Given the description of an element on the screen output the (x, y) to click on. 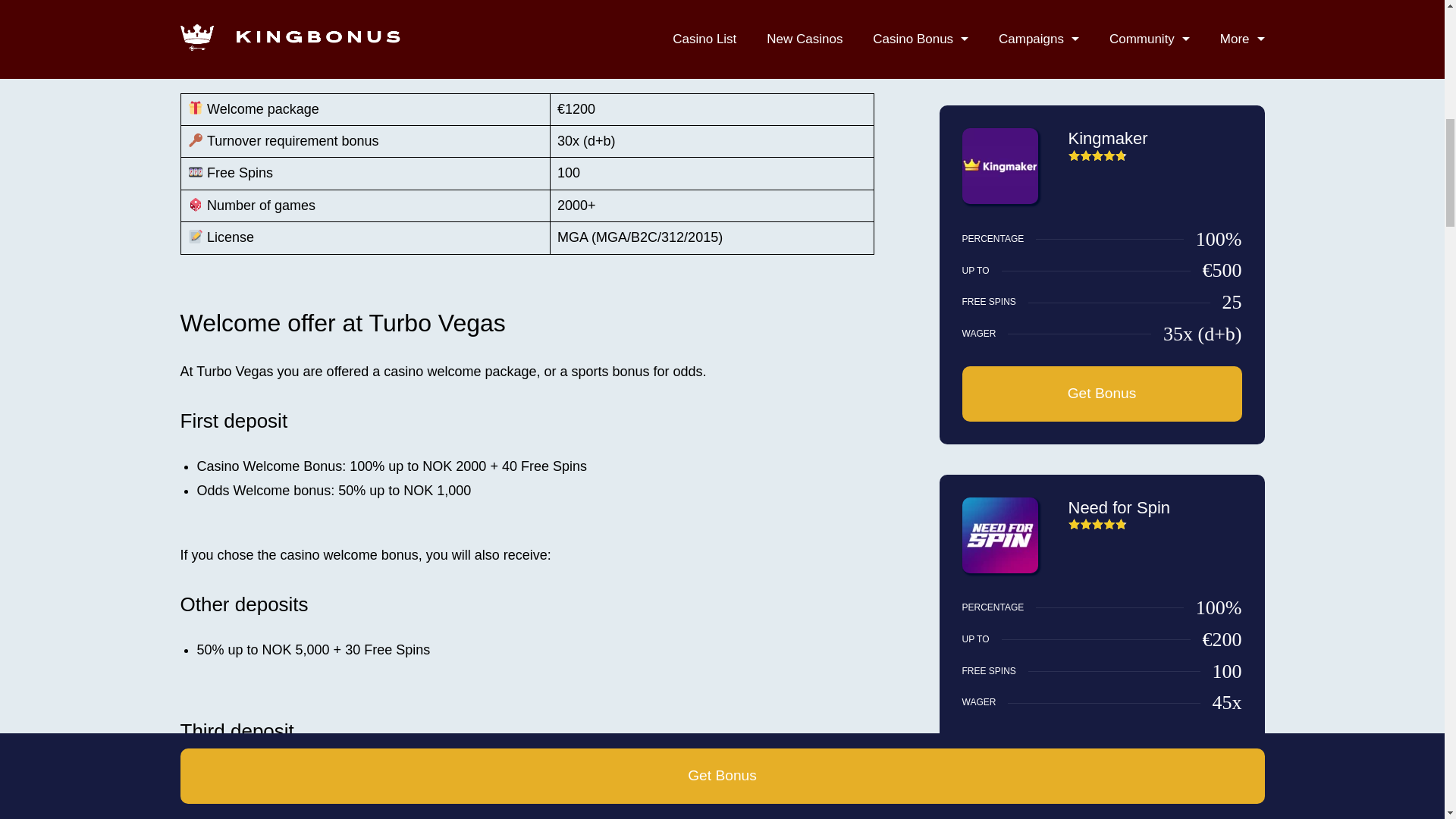
Hent bonus fra Need for Spin (1100, 762)
Hent bonus fra SlotLords (1100, 26)
Go to Kingmaker (998, 200)
4.79 Stars (1096, 523)
Need for Spin (1118, 506)
4.76 Stars (1096, 155)
Go to Need for Spin (998, 569)
Hent bonus fra Kingmaker (1100, 393)
Kingmaker (1107, 138)
